Given the description of an element on the screen output the (x, y) to click on. 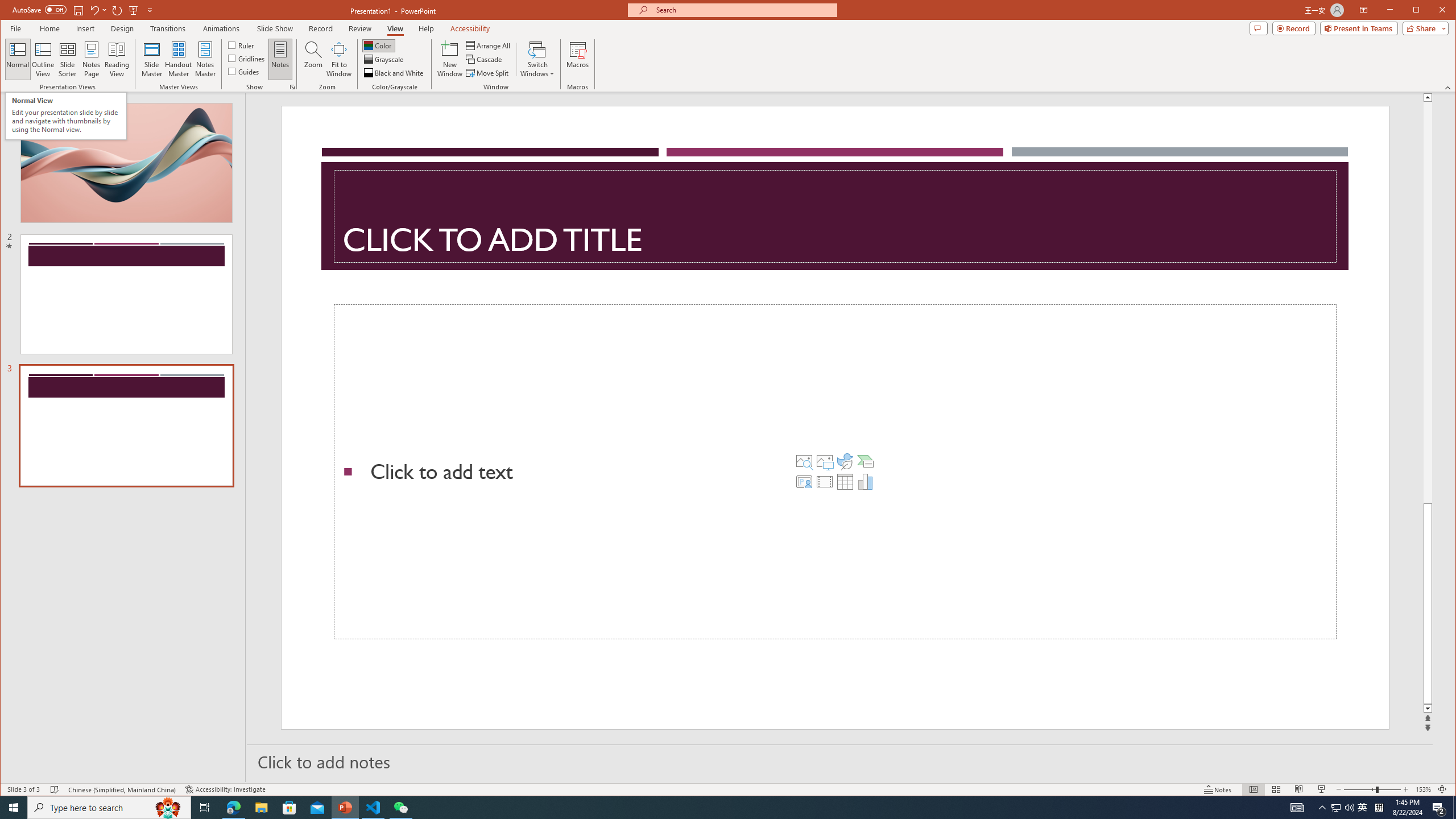
Notes (279, 59)
Black and White (394, 72)
Grid Settings... (292, 86)
Macros (576, 59)
Slide Master (151, 59)
